Given the description of an element on the screen output the (x, y) to click on. 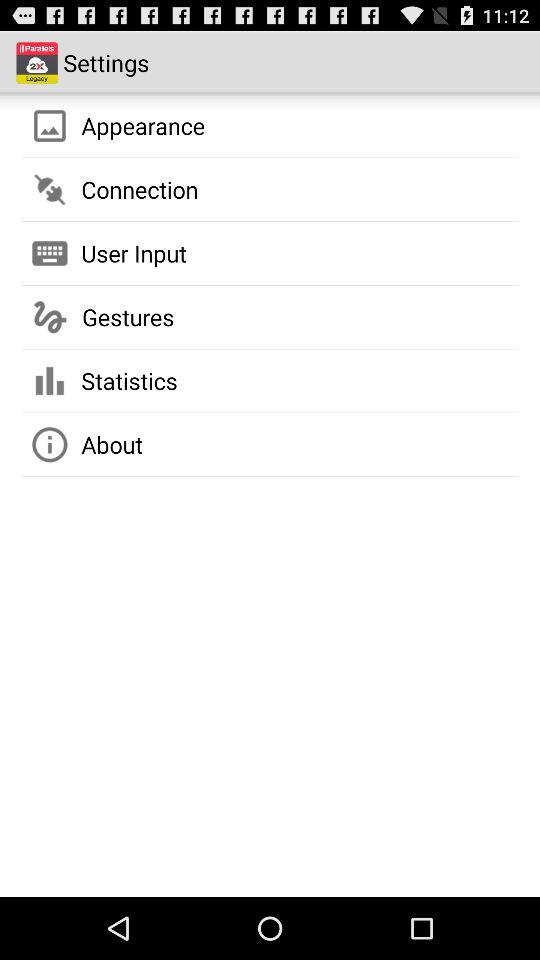
press the item above the statistics icon (128, 317)
